Given the description of an element on the screen output the (x, y) to click on. 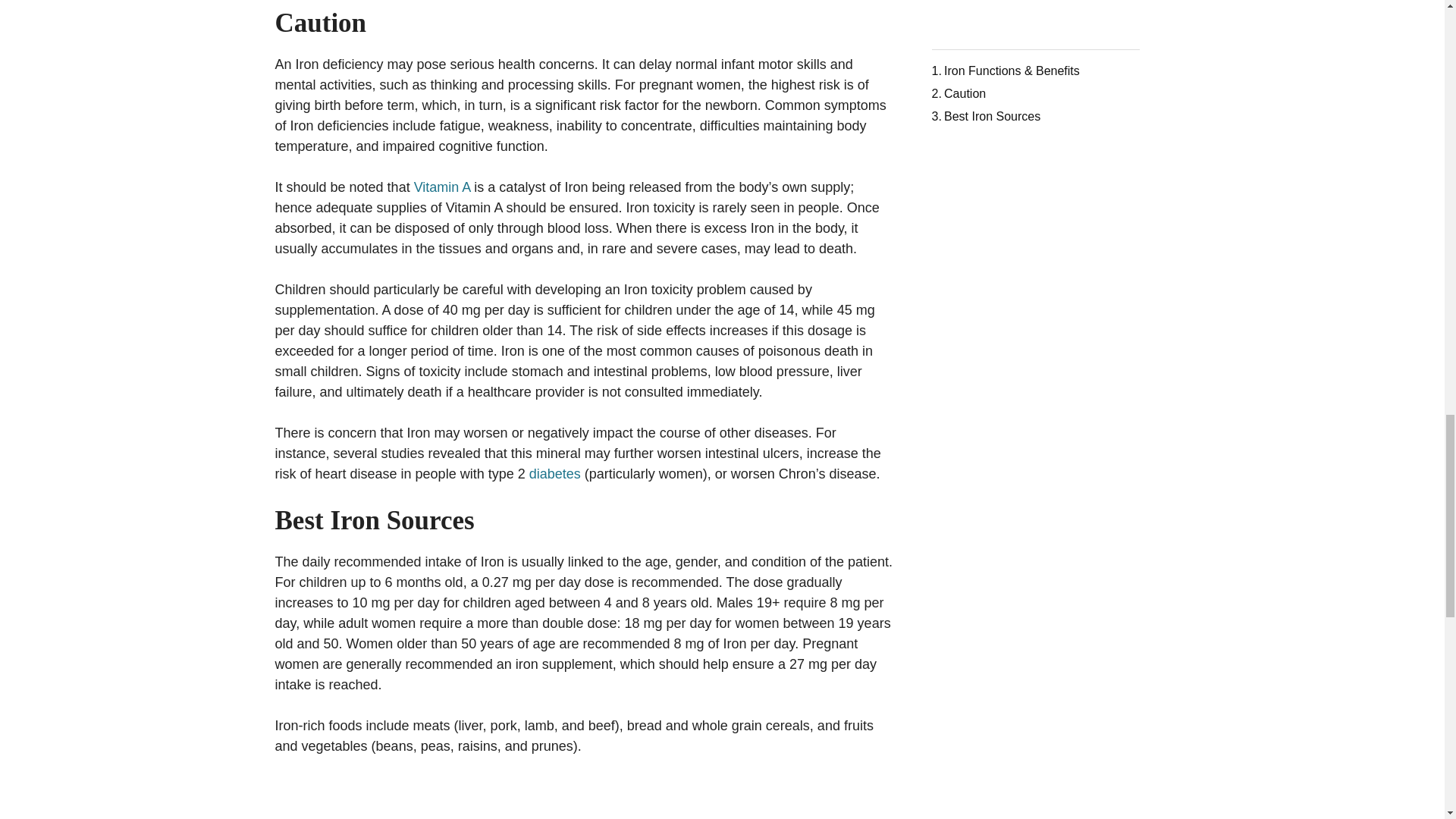
Vitamin A (441, 186)
diabetes (554, 473)
diabetes (554, 473)
Vitamin A (441, 186)
